Given the description of an element on the screen output the (x, y) to click on. 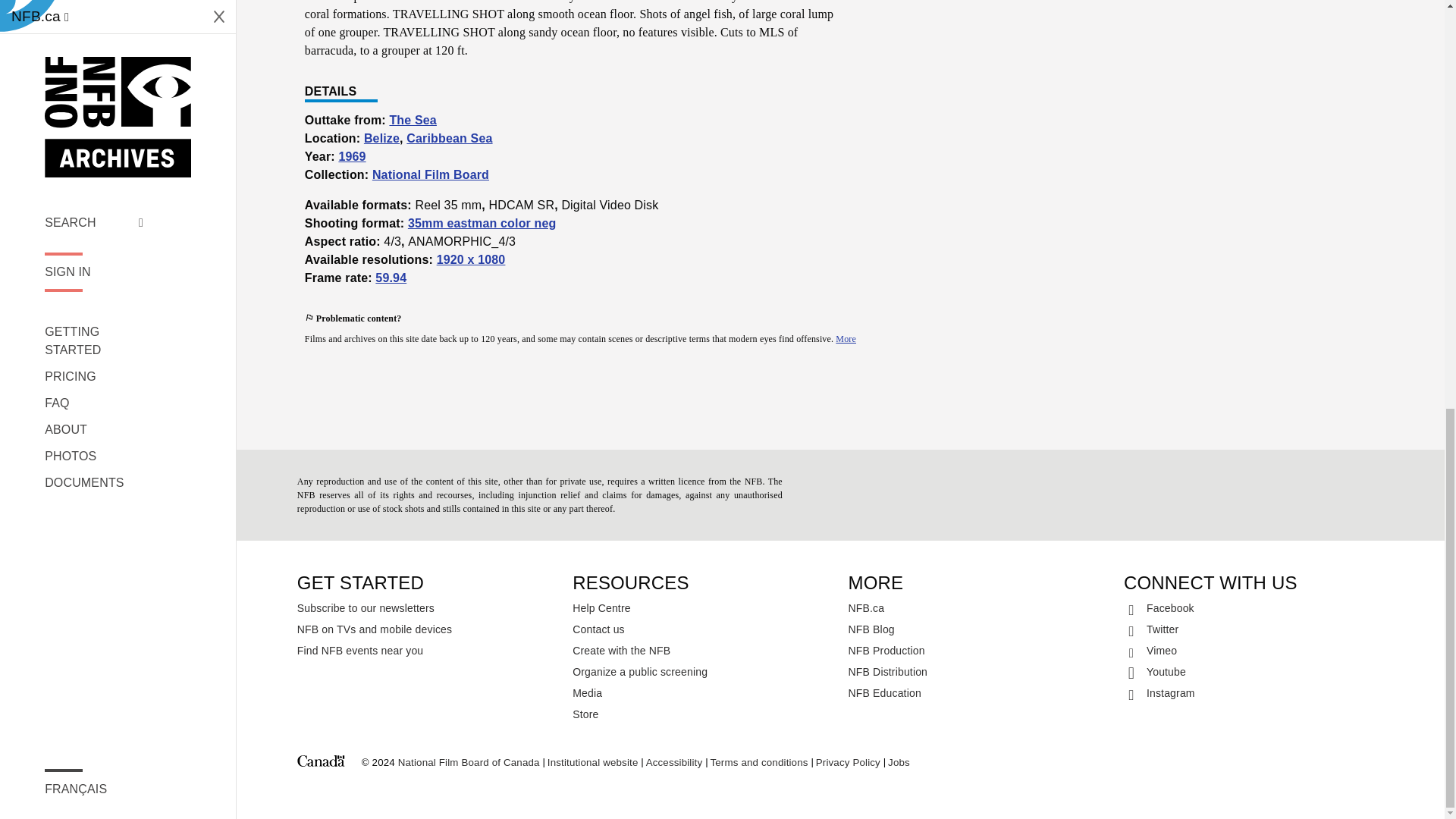
Subscribe to our newsletters (427, 608)
59.94 (390, 277)
Store (702, 713)
Belize (381, 137)
35mm eastman color neg (481, 223)
Contact us (702, 629)
NFB on TVs and mobile devices (427, 629)
1920 x 1080 (470, 259)
Canada (321, 762)
Media (702, 692)
